Given the description of an element on the screen output the (x, y) to click on. 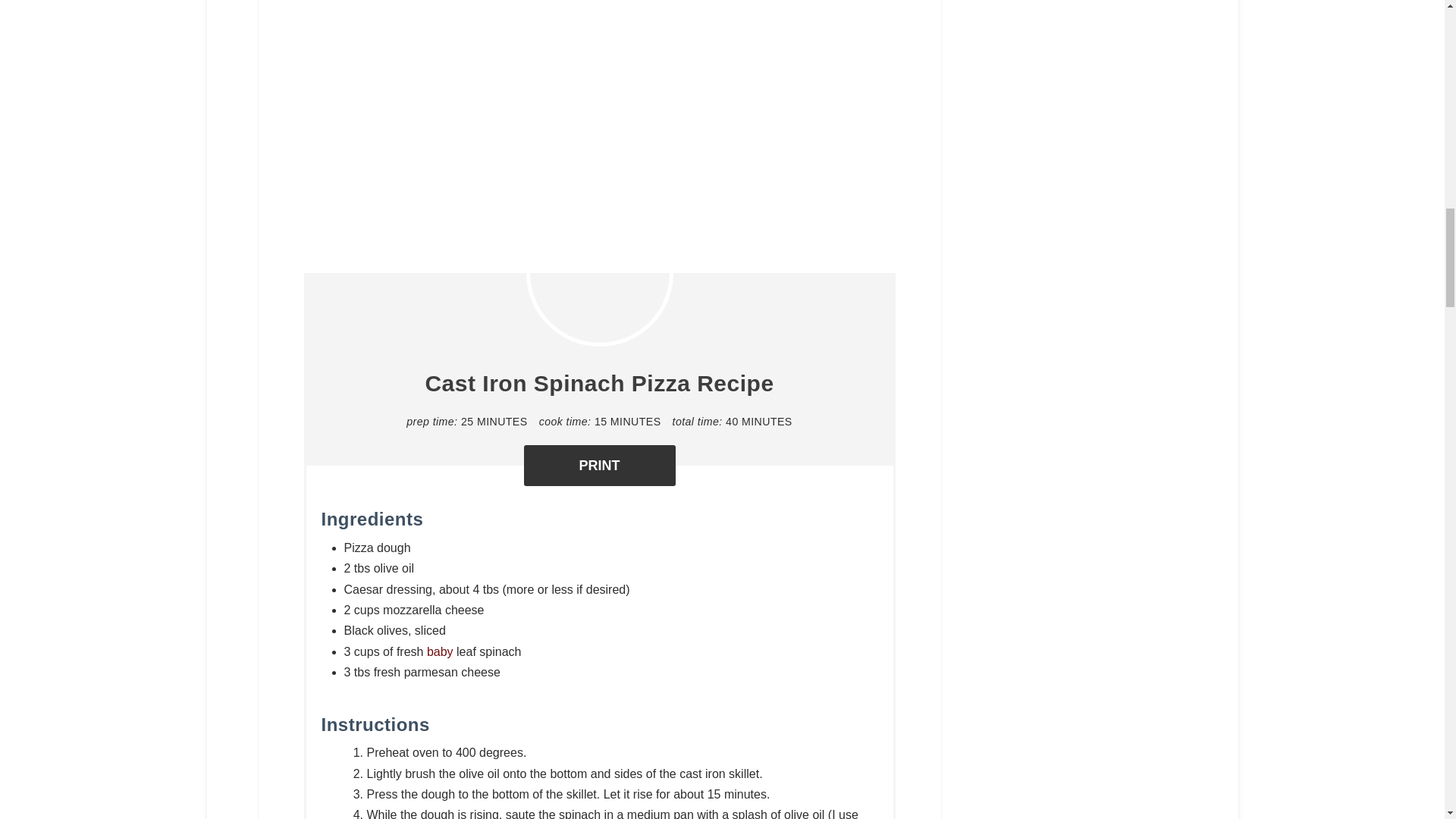
Baby (439, 651)
PRINT (598, 465)
baby (439, 651)
